Given the description of an element on the screen output the (x, y) to click on. 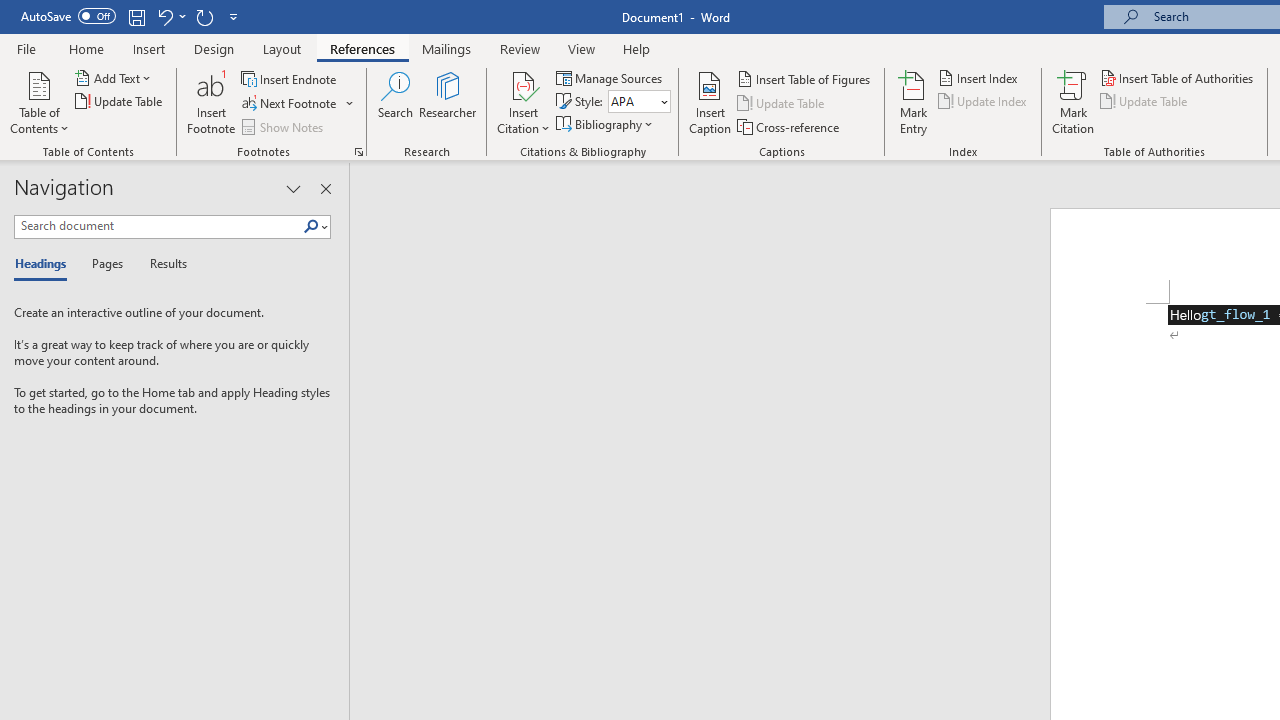
Cross-reference... (789, 126)
Insert Endnote (290, 78)
Next Footnote (290, 103)
Headings (45, 264)
Repeat Underline Style (204, 15)
Mark Entry... (913, 102)
Insert Index... (979, 78)
Update Table (1145, 101)
